Given the description of an element on the screen output the (x, y) to click on. 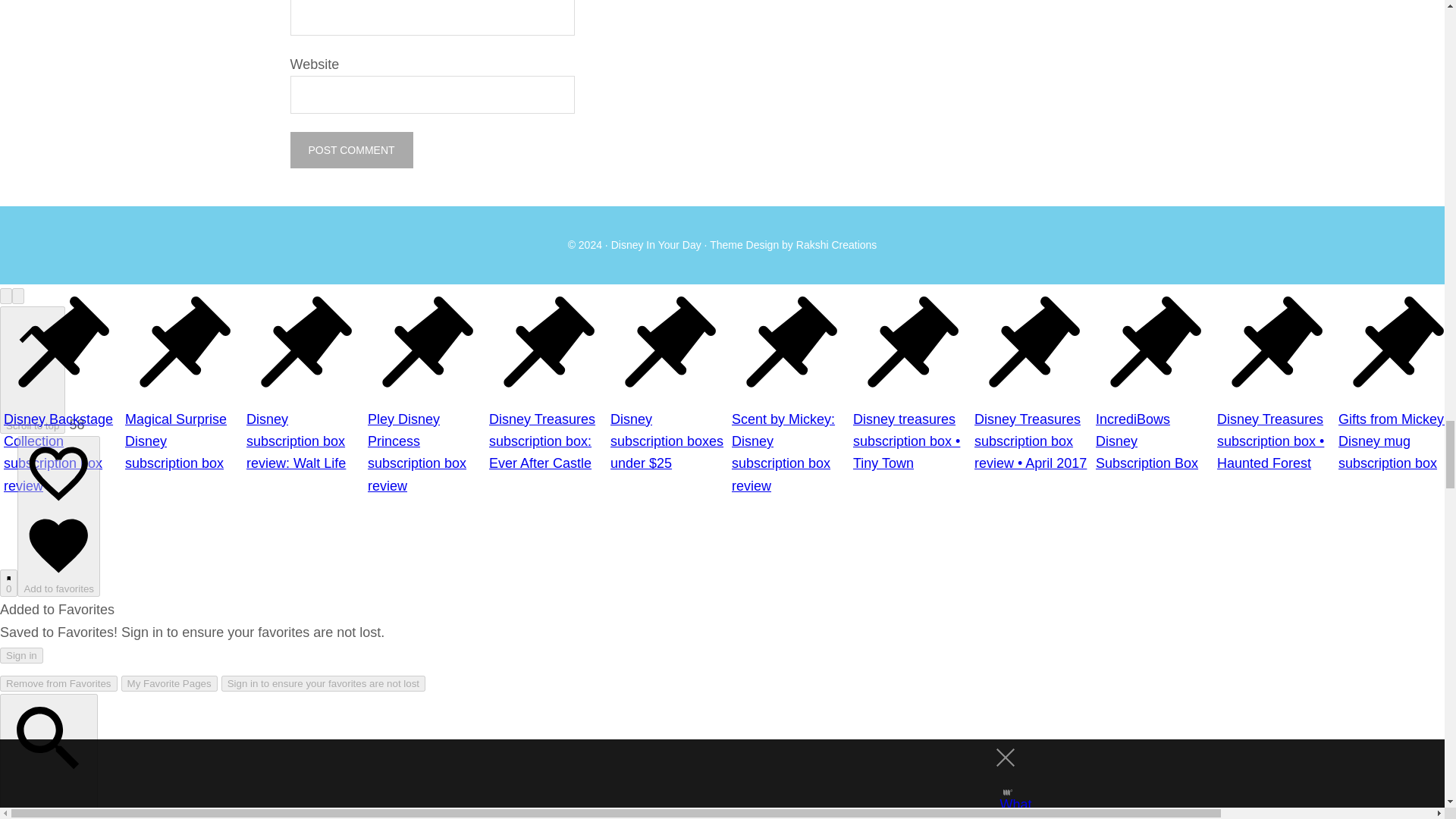
Post Comment (350, 149)
Rakshi Creations (836, 244)
Post Comment (350, 149)
